Given the description of an element on the screen output the (x, y) to click on. 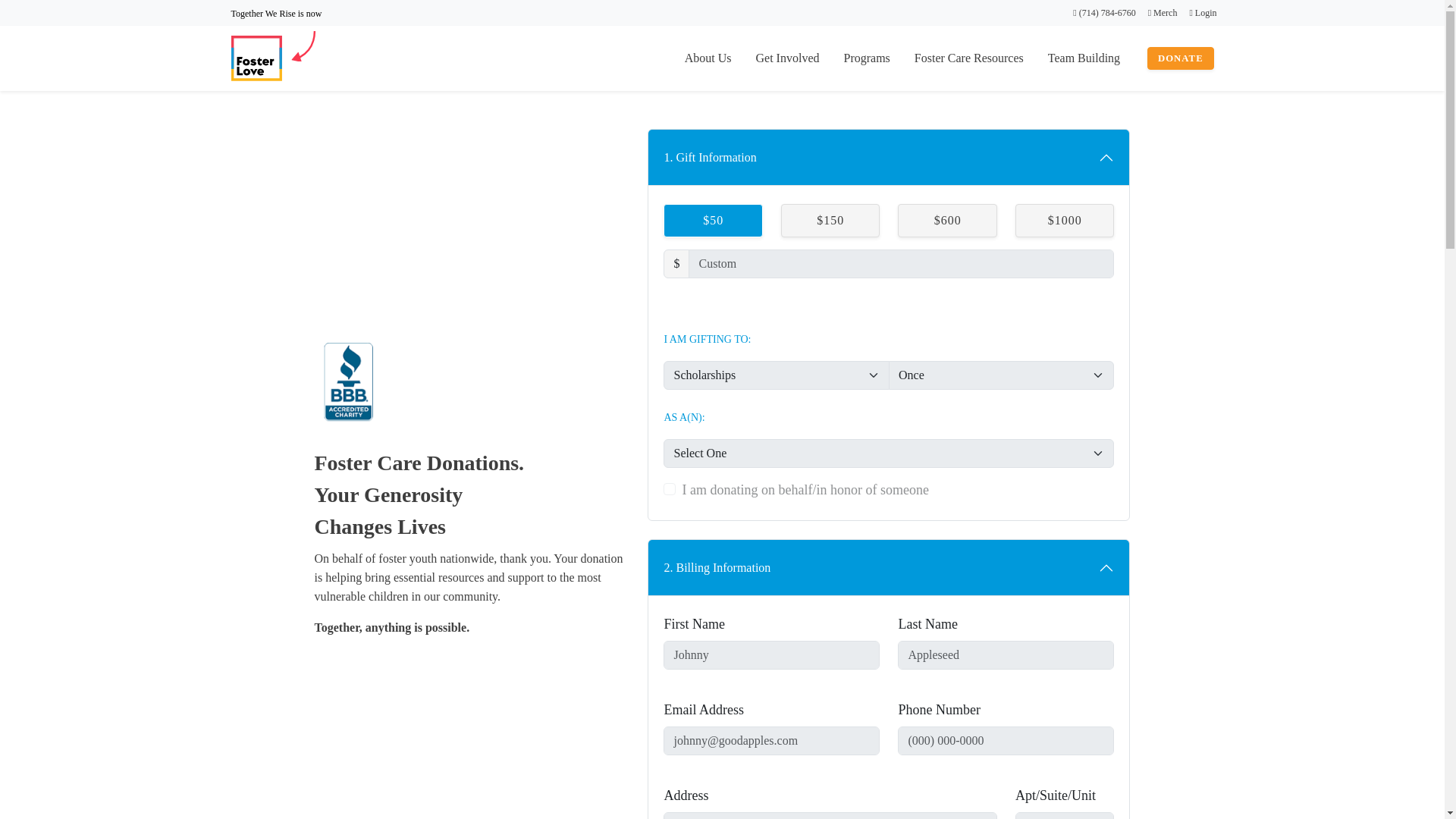
Programs (866, 58)
About Us (708, 58)
Merch (1162, 12)
on (669, 489)
Get Involved (786, 58)
